Given the description of an element on the screen output the (x, y) to click on. 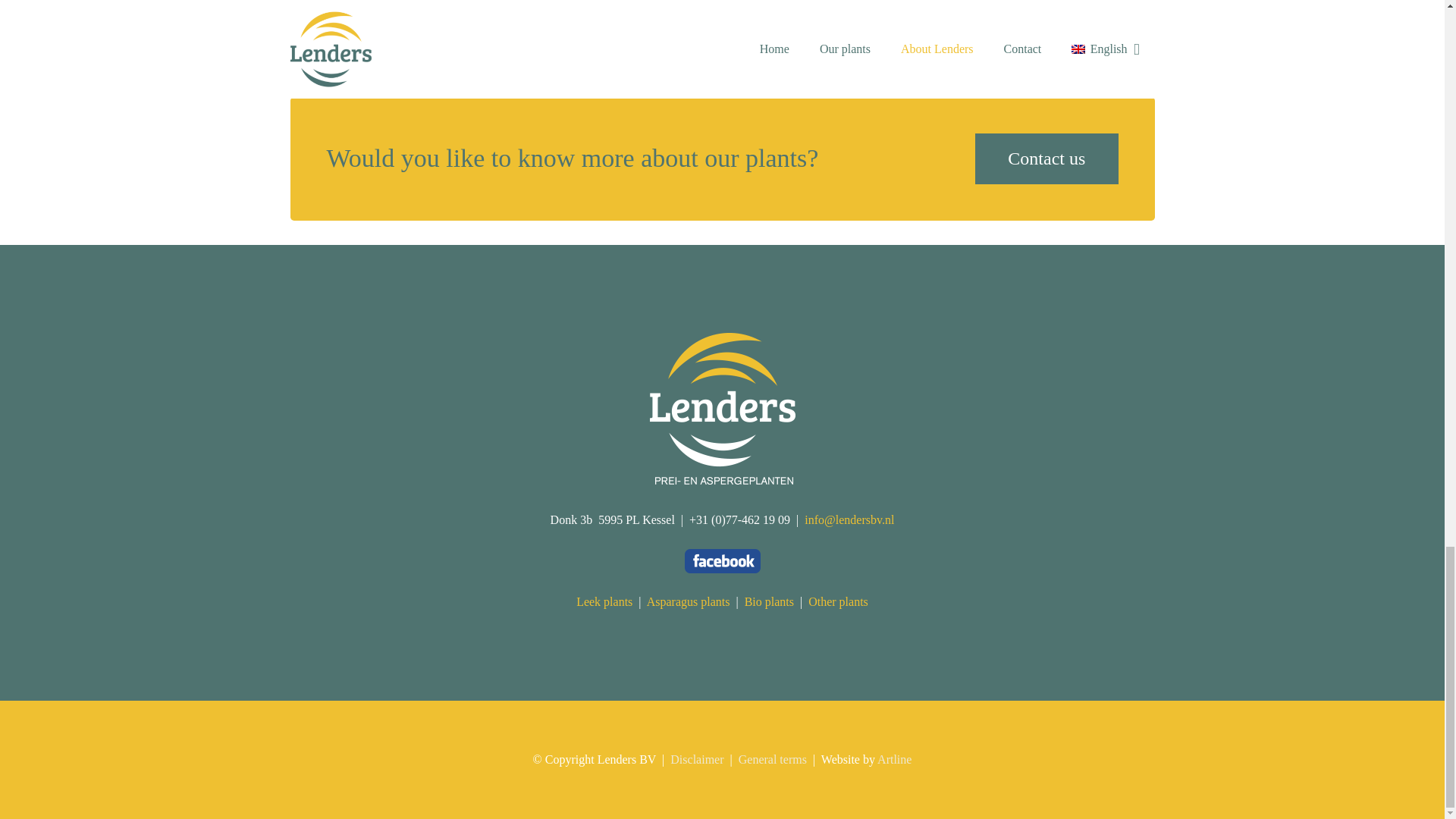
Bio plants (768, 601)
Contact us (1046, 158)
Other plants (837, 601)
Leek plants (603, 601)
Leek plants (603, 601)
Bio plants (768, 601)
Disclaimer (696, 758)
General terms (772, 758)
Asparagus plants (688, 601)
Preiplanten (721, 480)
General terms (772, 758)
Artline (894, 758)
Other plants (837, 601)
Disclaimer (696, 758)
Asparagus plants (688, 601)
